Given the description of an element on the screen output the (x, y) to click on. 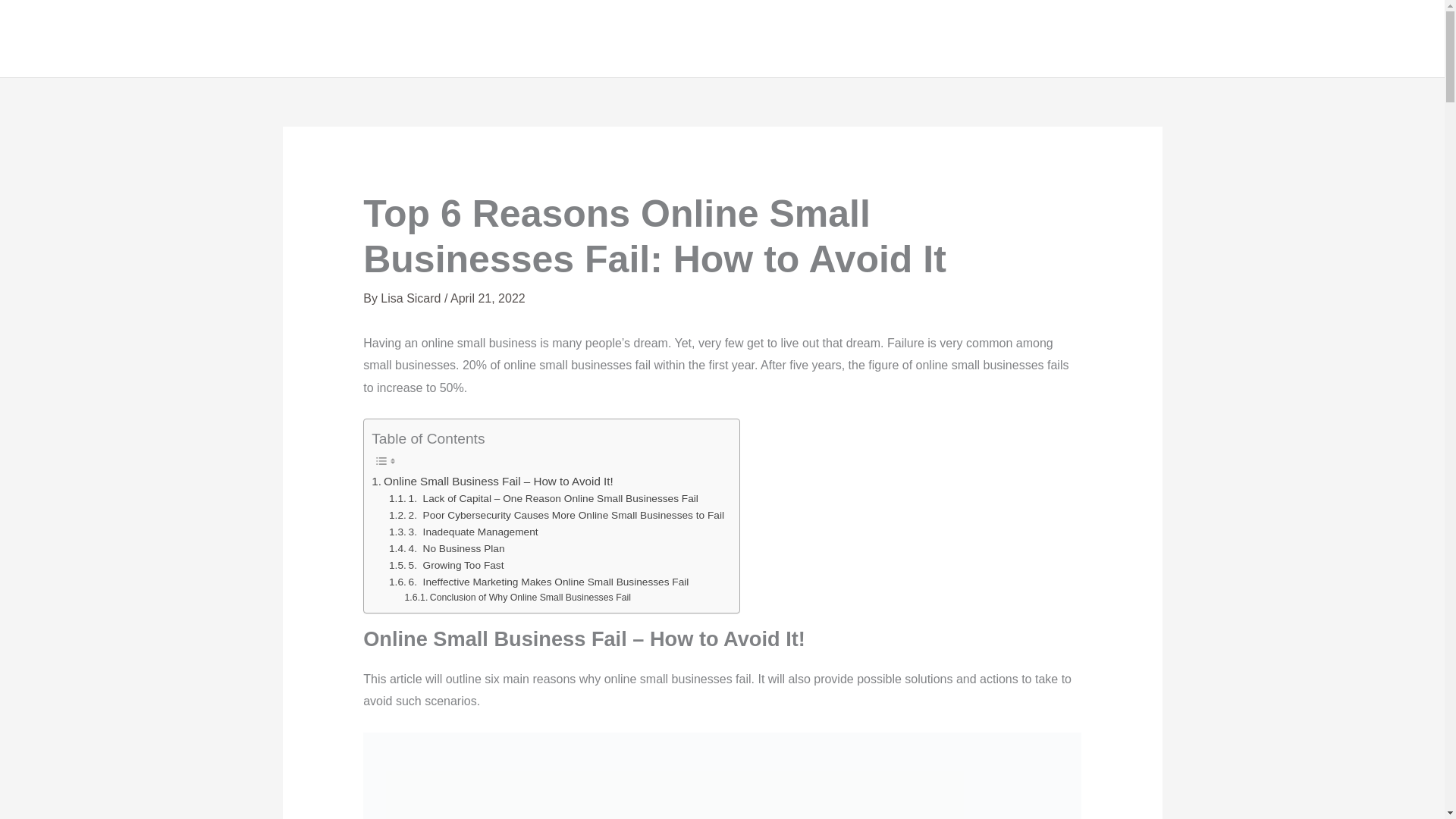
4.  No Business Plan (445, 548)
Conclusion of Why Online Small Businesses Fail (517, 598)
5.  Growing Too Fast (445, 565)
Social Media (1353, 38)
6.  Ineffective Marketing Makes Online Small Businesses Fail (538, 582)
About (1044, 38)
SEO (1272, 38)
Blog (1216, 38)
View all posts by Lisa Sicard (412, 297)
